Given the description of an element on the screen output the (x, y) to click on. 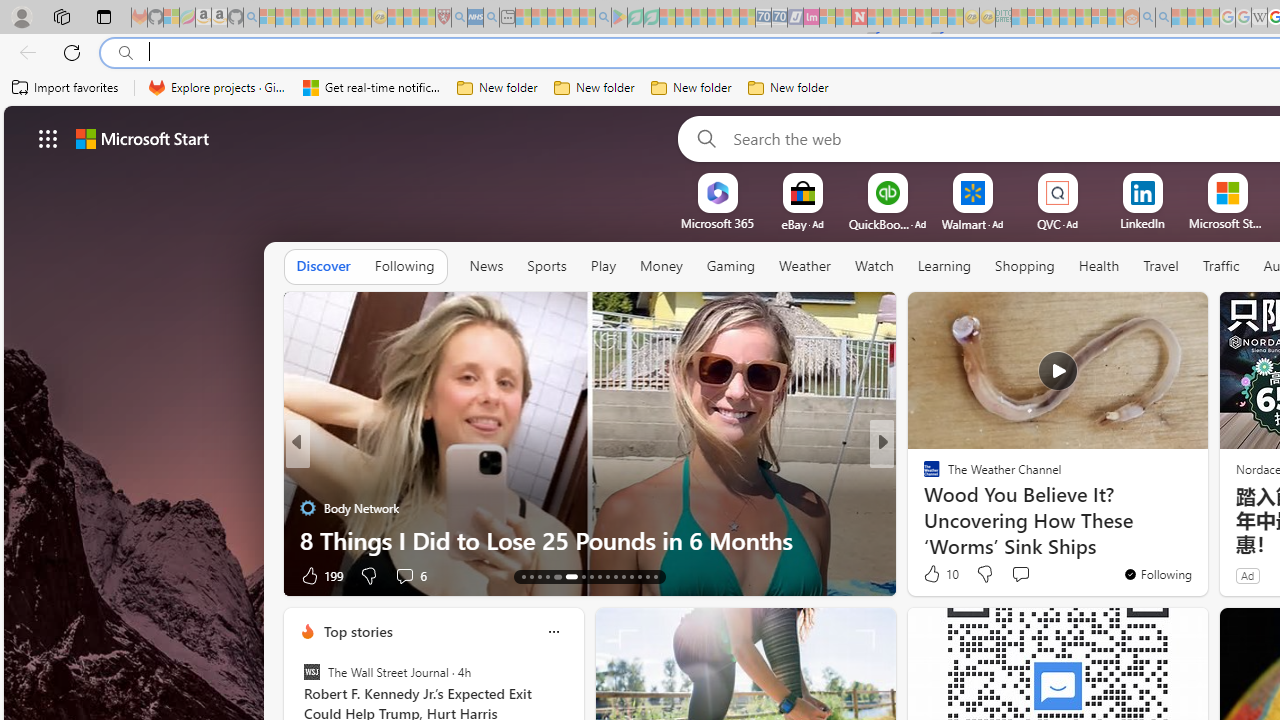
Shopping (1025, 267)
Forge of Empires (960, 507)
Import favorites (65, 88)
10 Like (939, 574)
AutomationID: tab-19 (582, 576)
AutomationID: tab-20 (591, 576)
View comments 18 Comment (1019, 575)
AutomationID: tab-17 (555, 576)
AutomationID: tab-26 (638, 576)
